Given the description of an element on the screen output the (x, y) to click on. 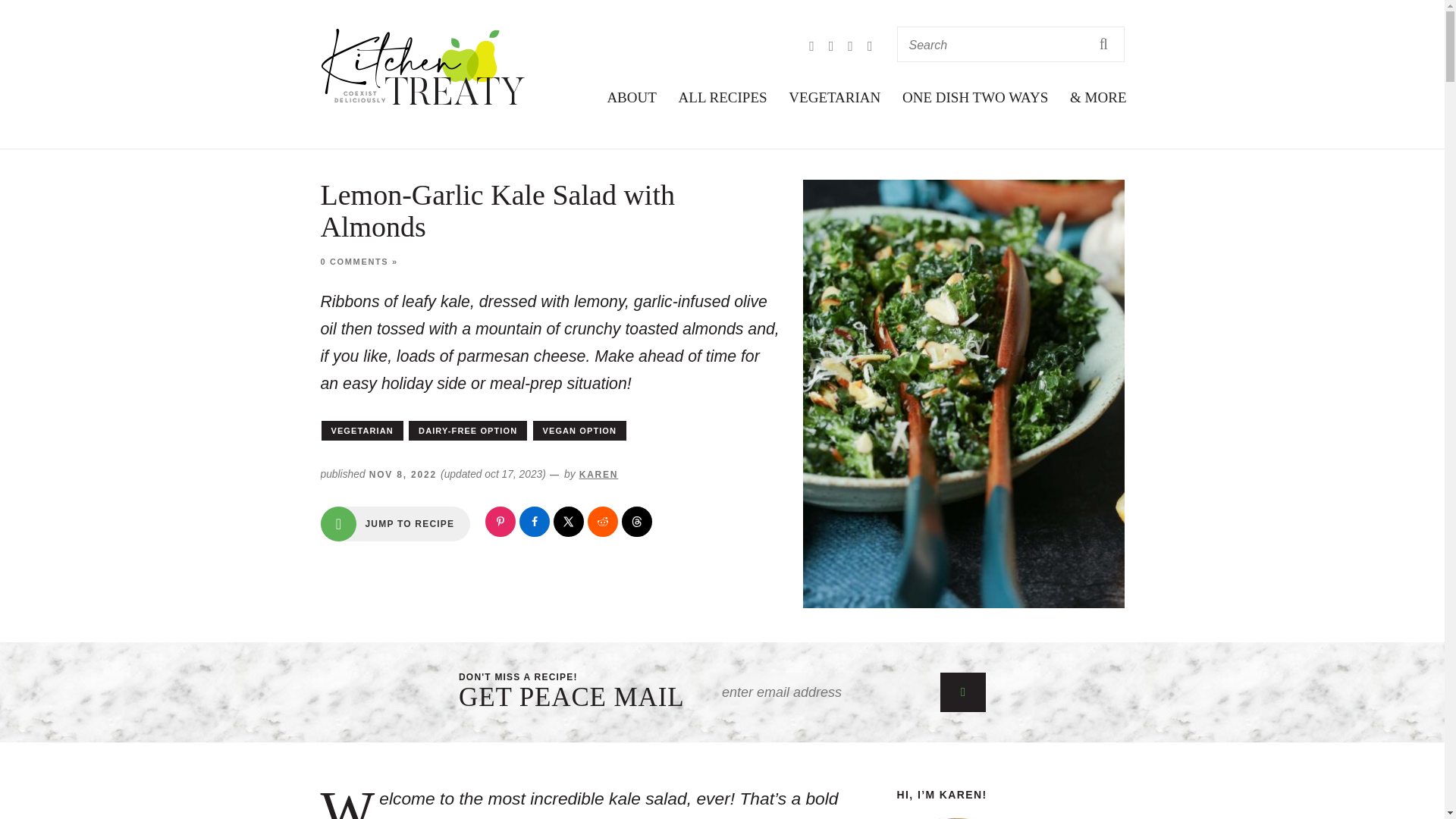
Share on X (568, 521)
One recipe for the vegetarians or vegans AND the carnivores (975, 96)
Share on Threads (636, 521)
Search by category, diet, ingredient, and more (722, 96)
Share on Reddit (602, 521)
Save to Pinterest (499, 521)
Kitchen Treaty (422, 66)
Share on Facebook (534, 521)
